Given the description of an element on the screen output the (x, y) to click on. 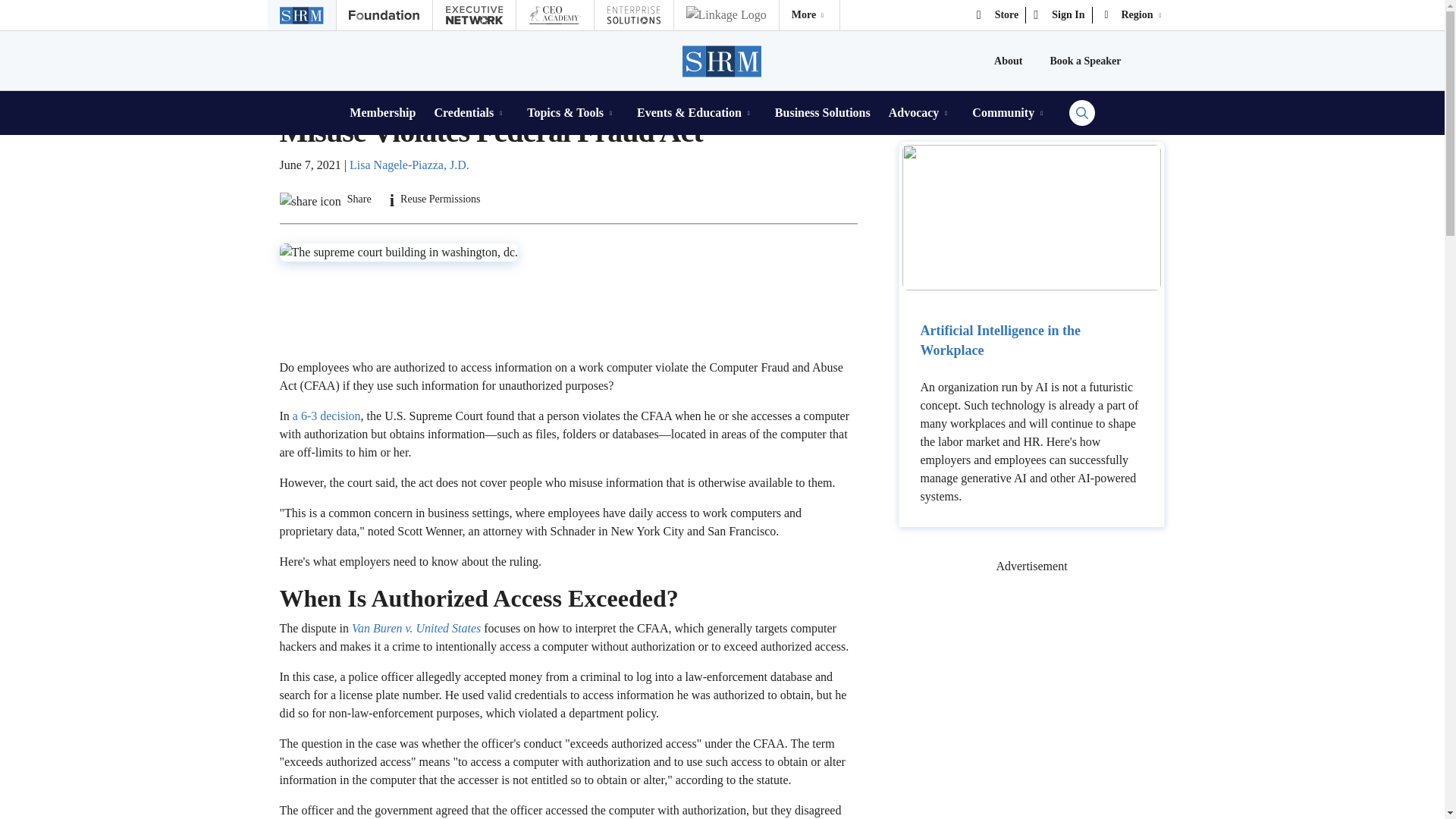
About (1008, 61)
store (997, 15)
Enterprise Solutions (633, 15)
SHRM (722, 60)
More (809, 15)
Book a Speaker (1085, 61)
sign in (1059, 15)
Foundation (384, 15)
About (1008, 61)
Linkage (724, 15)
logo image (809, 15)
Credentials (470, 112)
Executive network (473, 15)
Book a Speaker (1085, 61)
CEO Academy (553, 15)
